Given the description of an element on the screen output the (x, y) to click on. 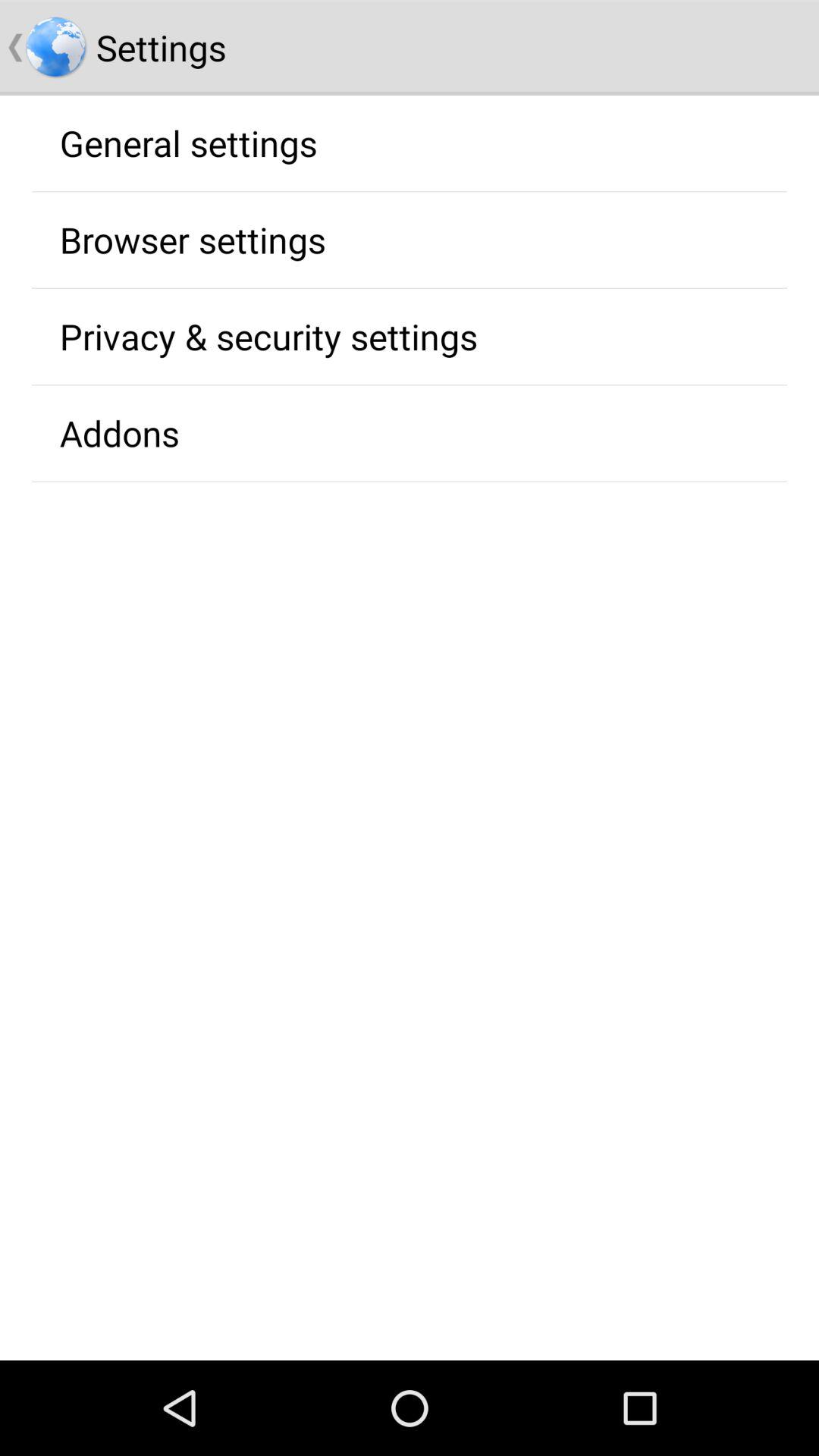
turn on general settings app (188, 142)
